Given the description of an element on the screen output the (x, y) to click on. 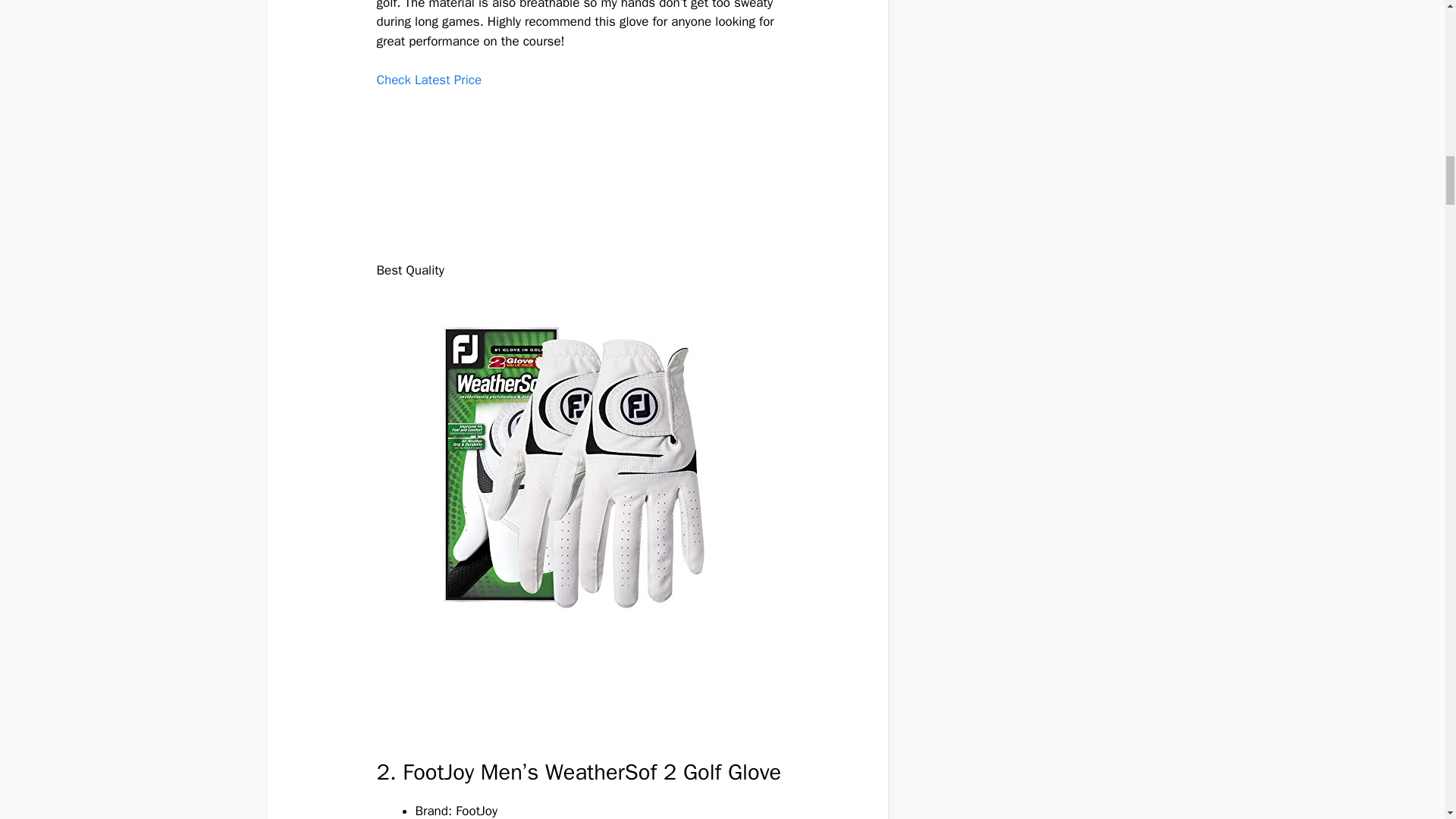
Check Latest Price (428, 79)
